Given the description of an element on the screen output the (x, y) to click on. 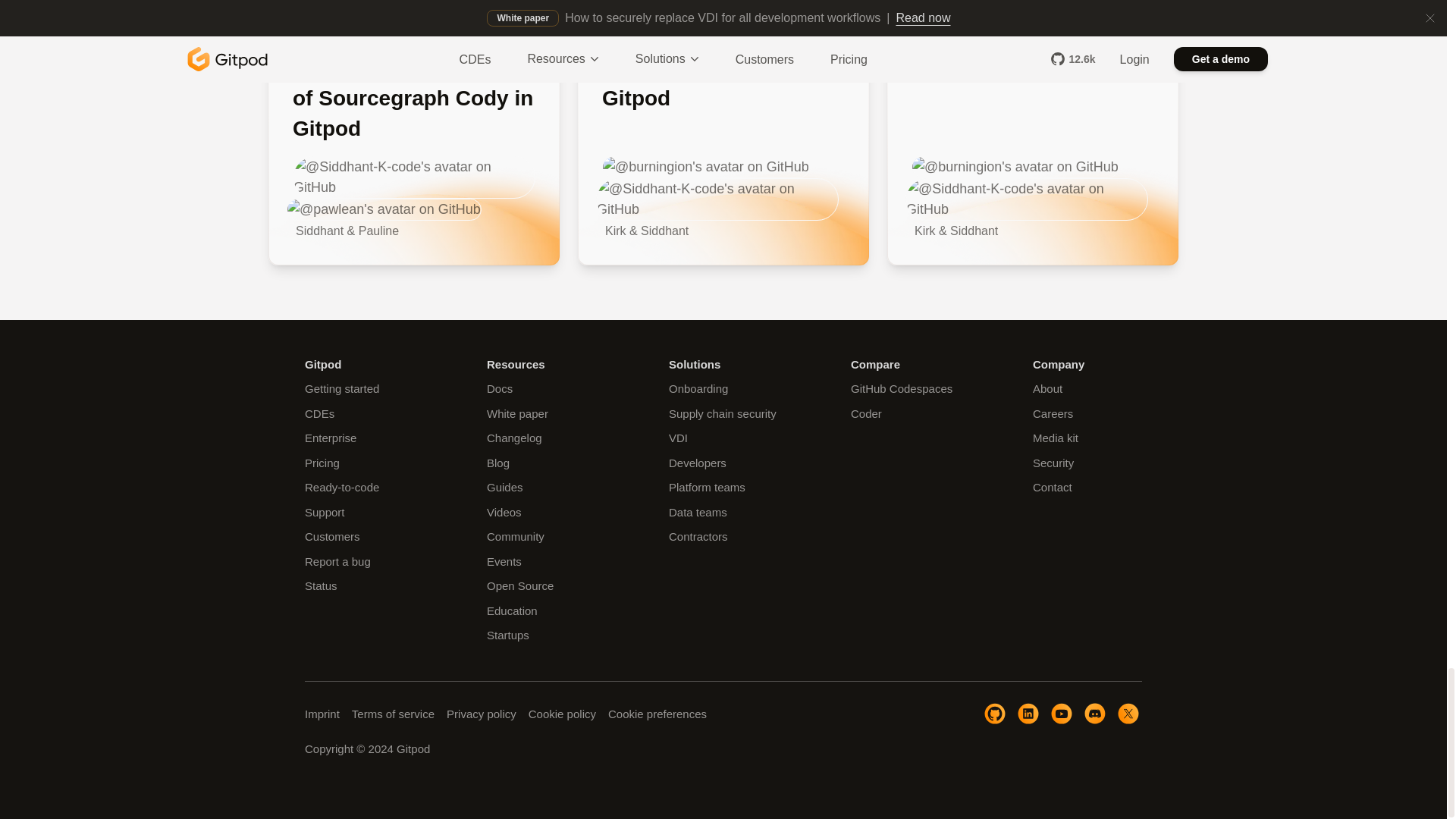
Enterprise (330, 437)
CDEs (319, 413)
Getting started (341, 388)
